Given the description of an element on the screen output the (x, y) to click on. 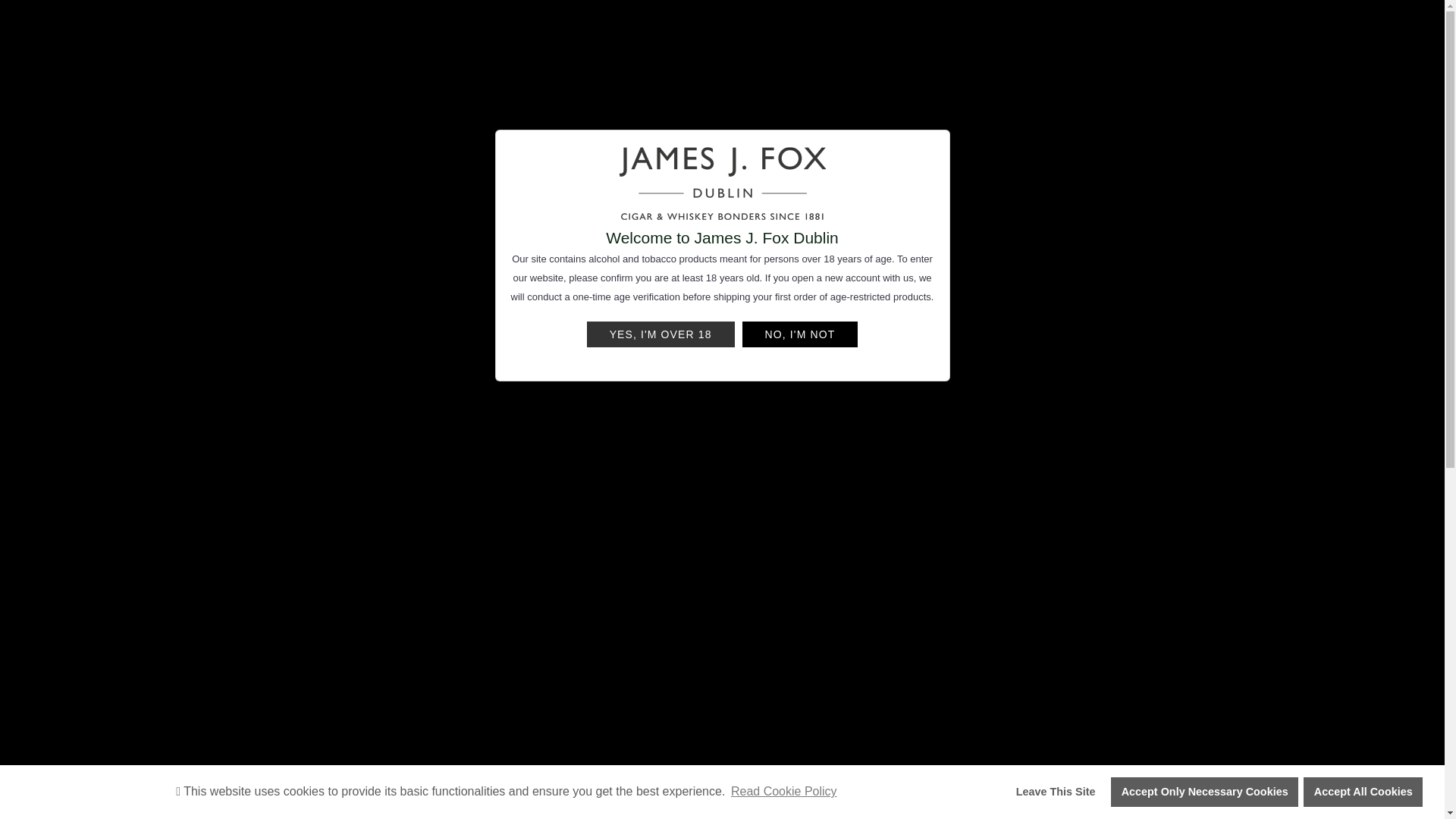
NEW IN STOCKHOT (324, 110)
Account (1341, 43)
Accept All Cookies (1362, 791)
Accept Only Necessary Cookies (1204, 791)
Cart (1393, 43)
Search (56, 43)
Leave This Site (1055, 791)
James J. Fox, Dublin (722, 43)
Home (213, 109)
Cigars (426, 109)
